Given the description of an element on the screen output the (x, y) to click on. 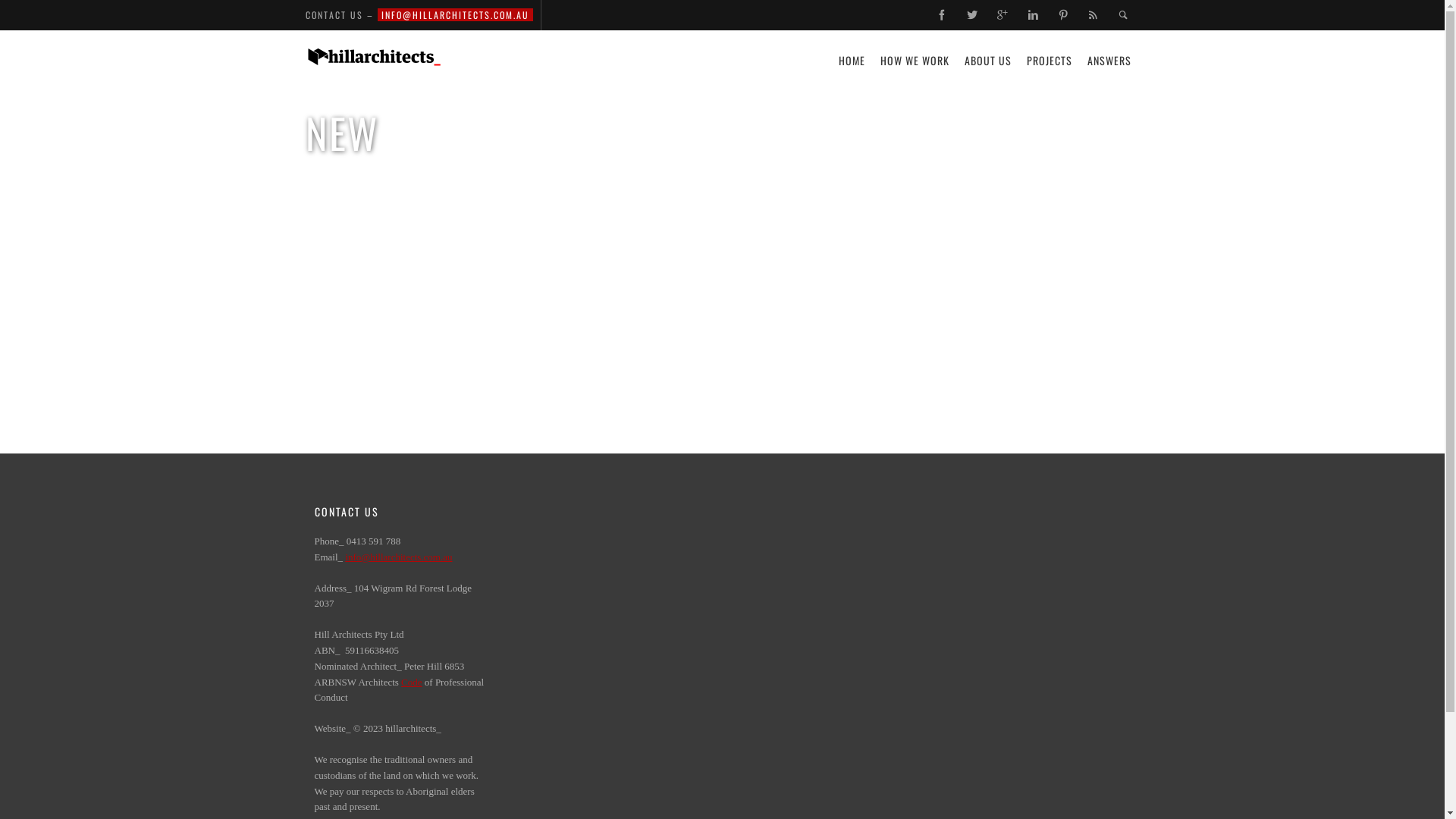
LinkedIn Element type: hover (1033, 15)
info@hillarchitects.com.au Element type: text (398, 556)
Code Element type: text (411, 681)
ABOUT US Element type: text (988, 60)
Facebook Element type: hover (942, 15)
ANSWERS Element type: text (1109, 60)
Twitter Element type: hover (972, 15)
RSS Element type: hover (1094, 15)
PROJECTS Element type: text (1049, 60)
HOW WE WORK Element type: text (914, 60)
INFO@HILLARCHITECTS.COM.AU Element type: text (455, 14)
Google+ Element type: hover (1003, 15)
Pinterest Element type: hover (1063, 15)
HOME Element type: text (851, 60)
